Given the description of an element on the screen output the (x, y) to click on. 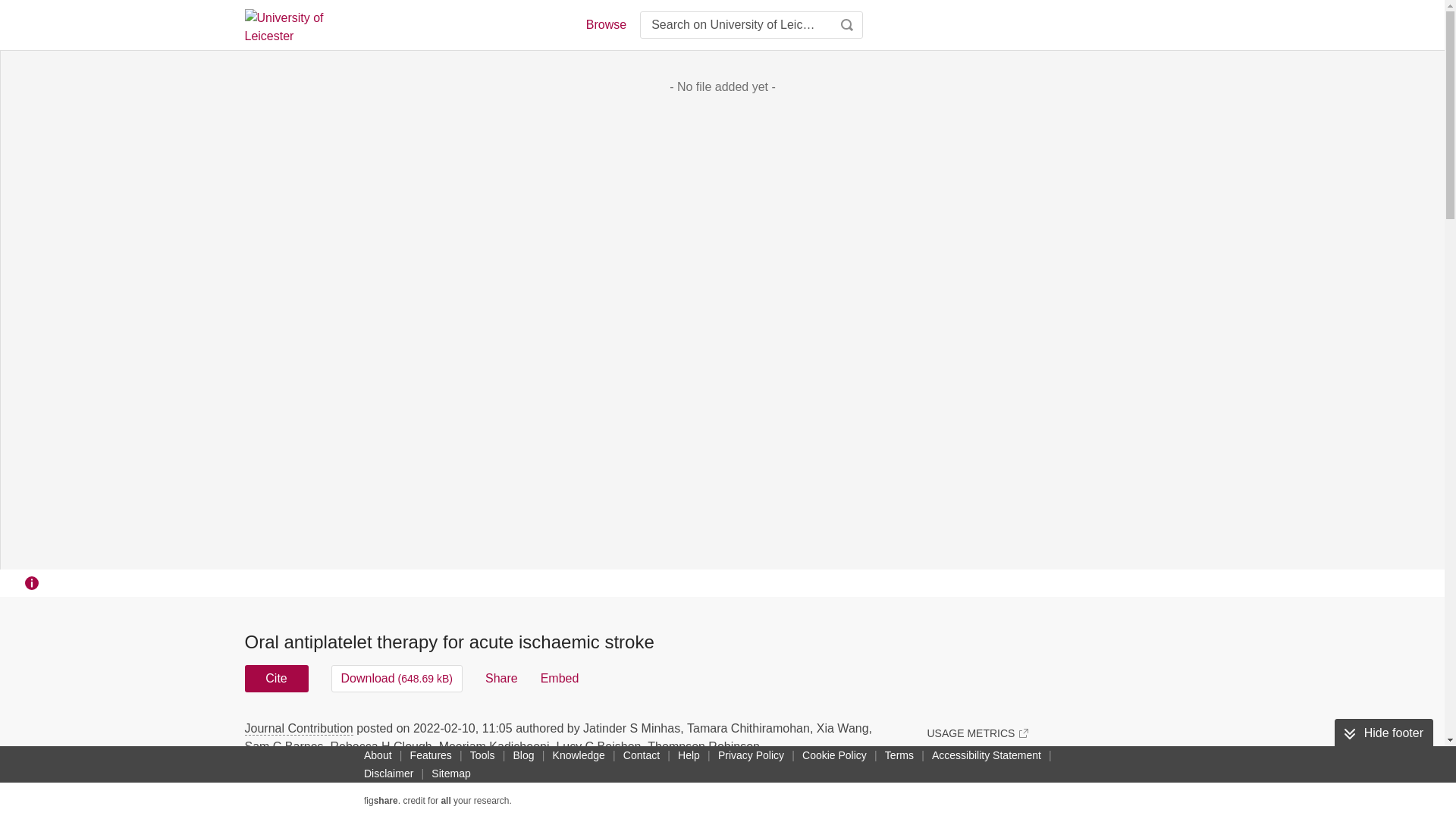
Embed (559, 678)
About (377, 755)
Help (688, 755)
USAGE METRICS (976, 732)
Contact (640, 755)
Hide footer (1383, 733)
Tools (482, 755)
Share (501, 678)
Blog (523, 755)
Cite (275, 678)
Browse (605, 24)
Knowledge (579, 755)
Features (431, 755)
